Given the description of an element on the screen output the (x, y) to click on. 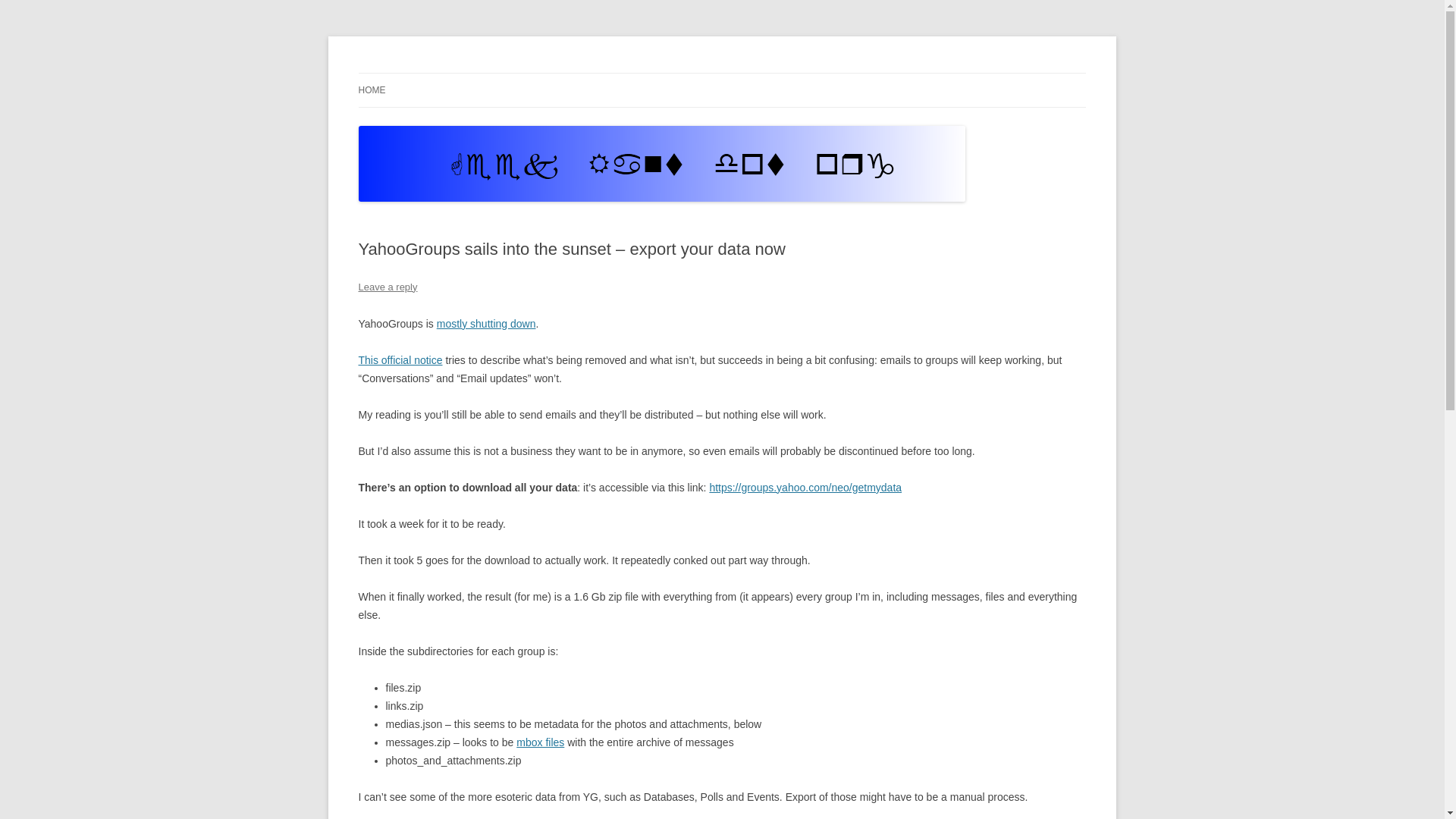
Geek Rant dot org (443, 72)
mbox files (540, 742)
mostly shutting down (485, 323)
This official notice (400, 359)
Geek Rant dot org (443, 72)
Leave a reply (387, 286)
